Given the description of an element on the screen output the (x, y) to click on. 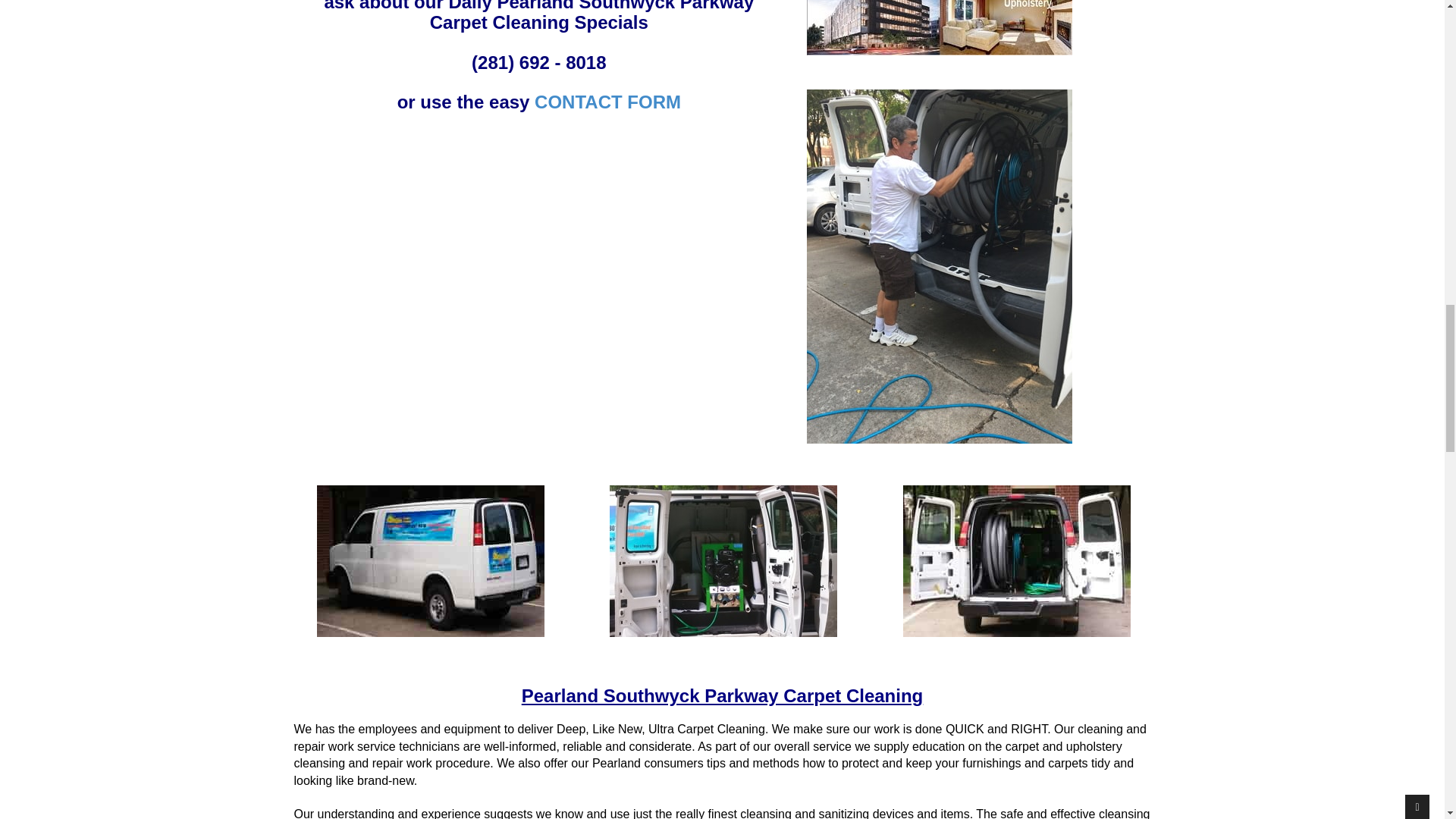
CONTACT FORM (607, 101)
